Given the description of an element on the screen output the (x, y) to click on. 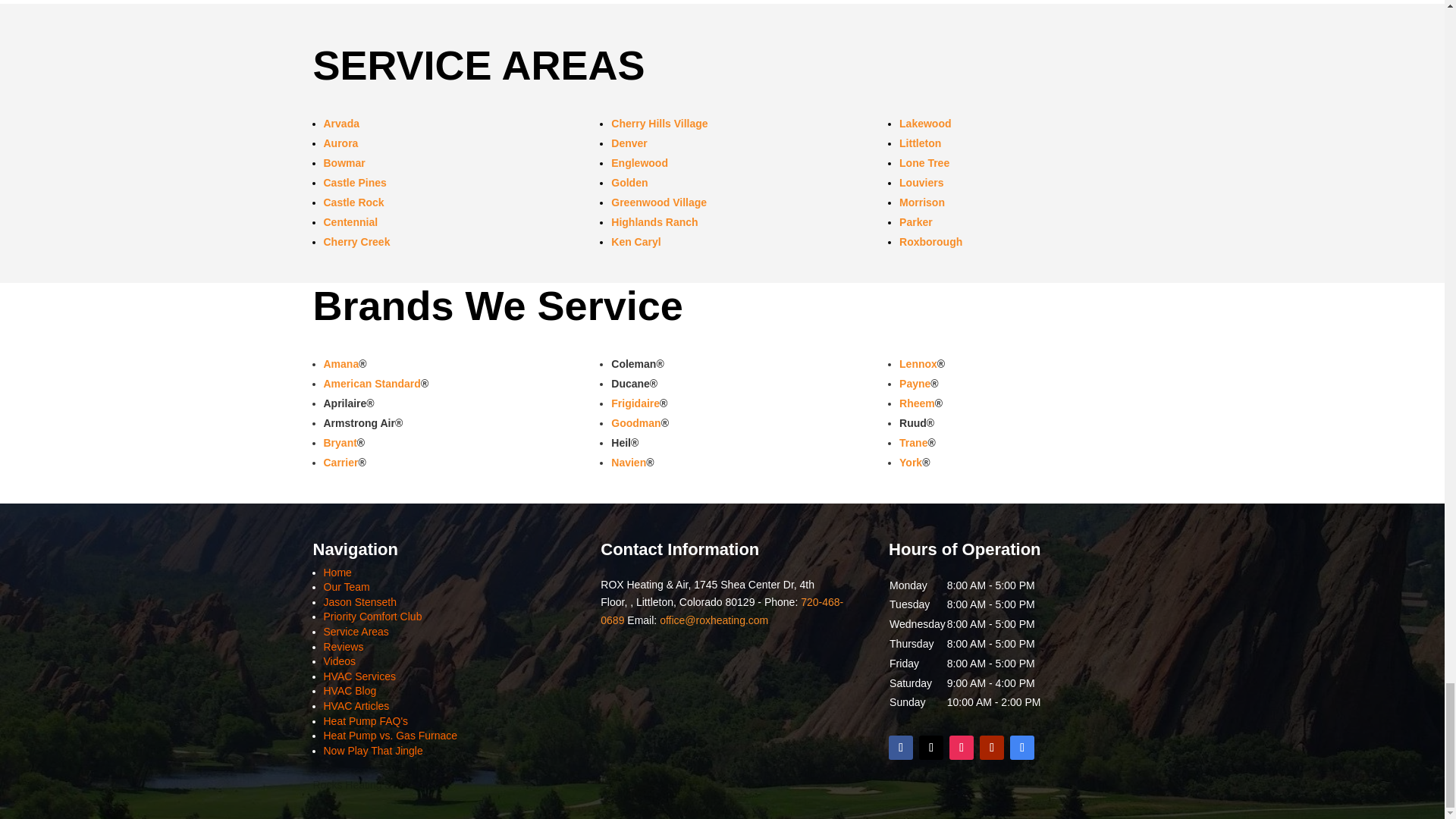
HVAC Blog (349, 690)
Heat Pump FAQ's (365, 720)
Follow on X (930, 747)
Follow on Facebook (900, 747)
Englewood HVAC Company (639, 162)
Follow on Instagram (961, 747)
